Given the description of an element on the screen output the (x, y) to click on. 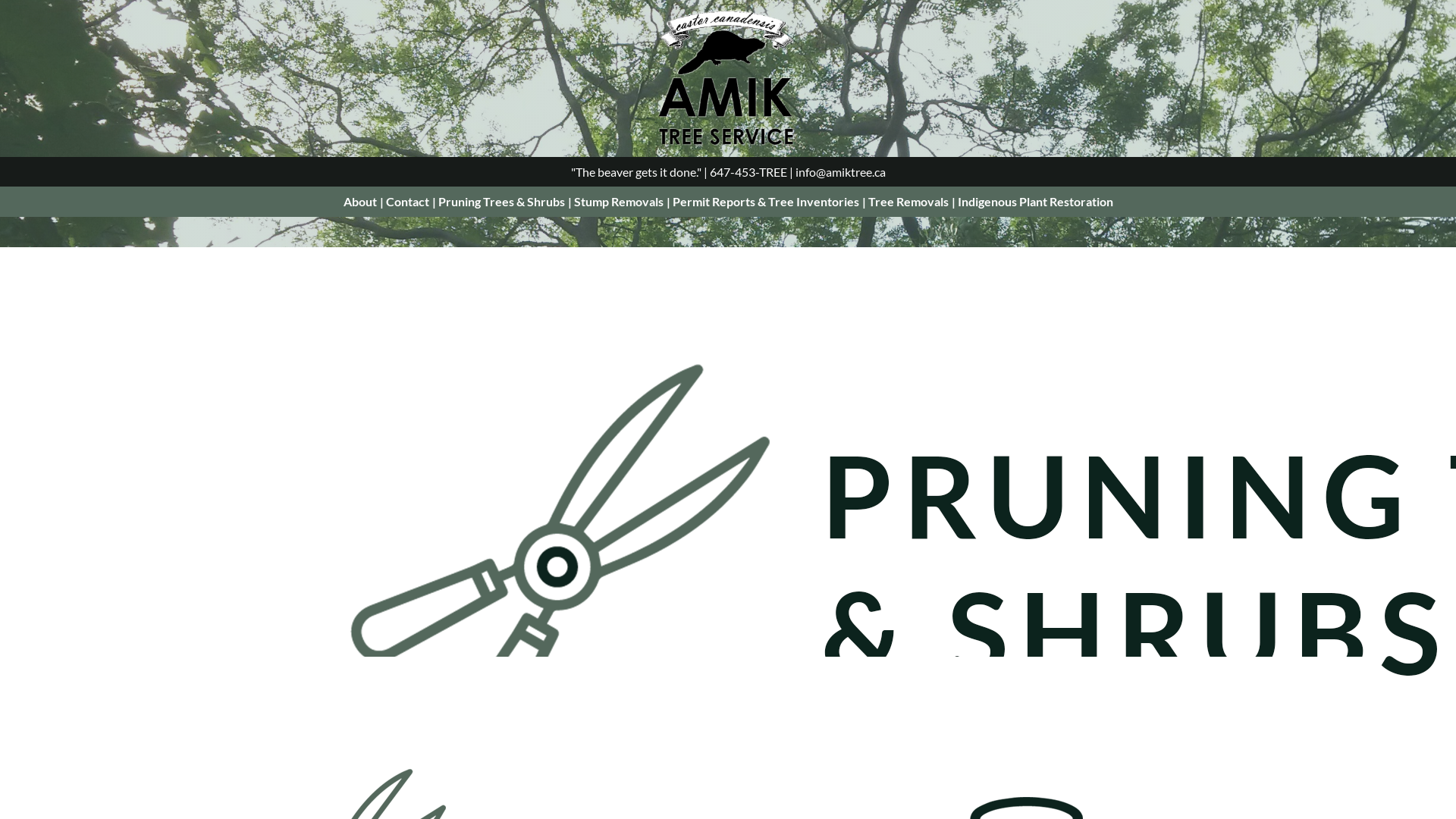
Pruning Trees & Shrubs Element type: text (501, 201)
Indigenous Plant Restoration Element type: text (1034, 201)
Stump Removals Element type: text (617, 201)
Contact Element type: text (406, 201)
About Element type: text (359, 201)
Permit Reports & Tree Inventories Element type: text (764, 201)
647-453-TREE Element type: text (748, 171)
Tree Removals Element type: text (907, 201)
info@amiktree.ca Element type: text (839, 171)
